Given the description of an element on the screen output the (x, y) to click on. 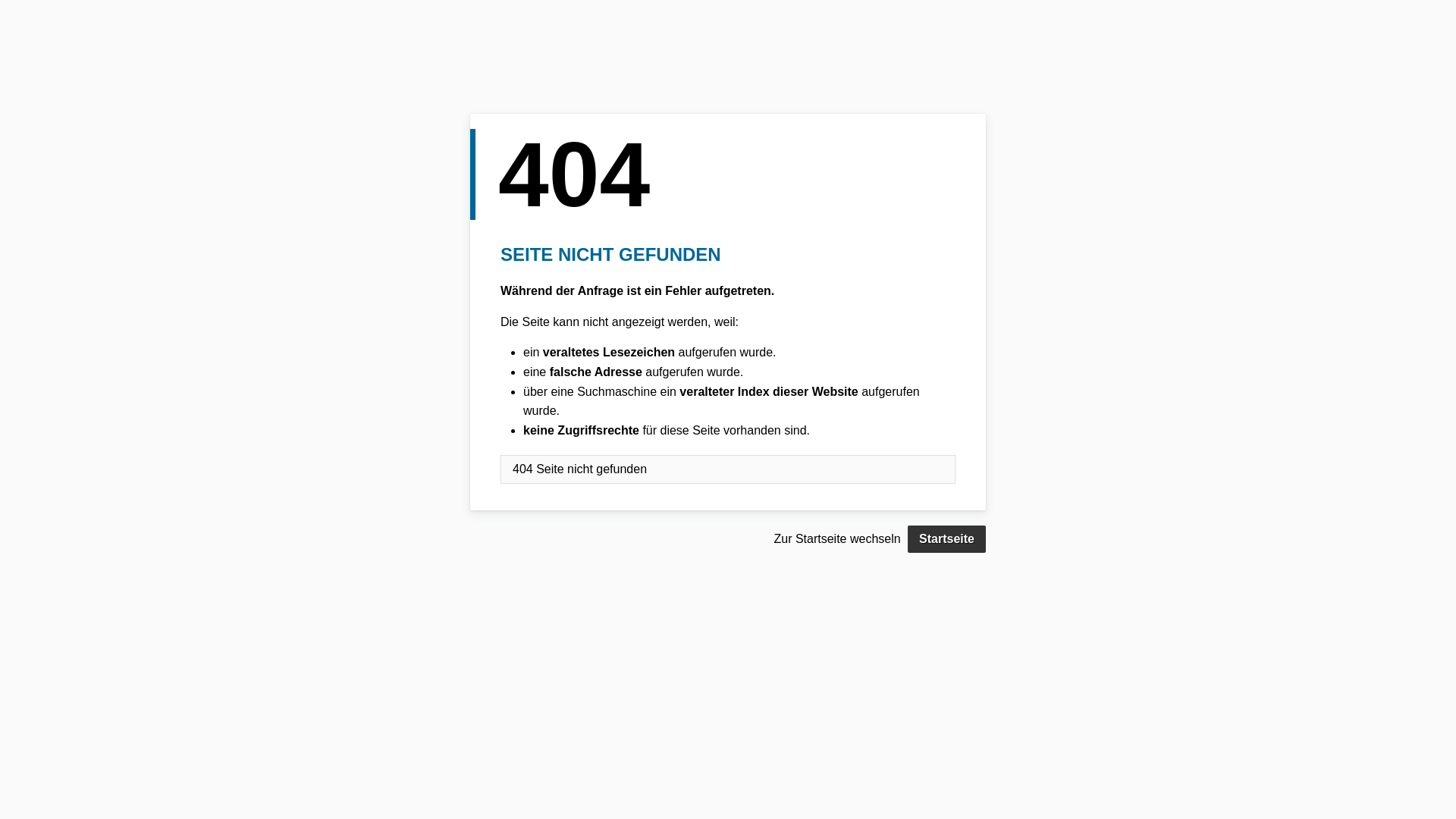
Startseite Element type: text (946, 538)
